Given the description of an element on the screen output the (x, y) to click on. 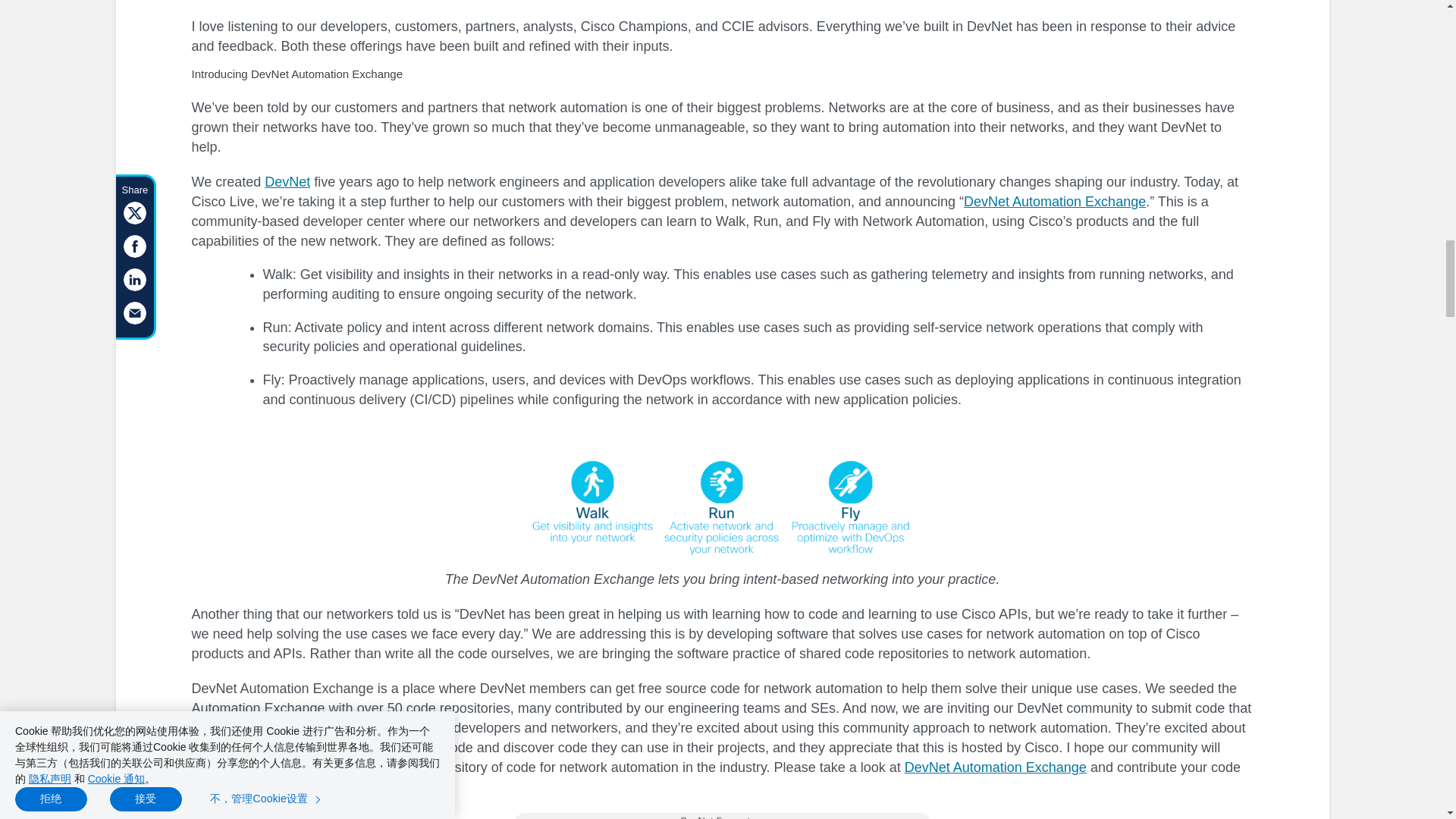
DevNet (287, 181)
DevNet Automation Exchange (1054, 201)
DevNet Automation Exchange (995, 767)
